Given the description of an element on the screen output the (x, y) to click on. 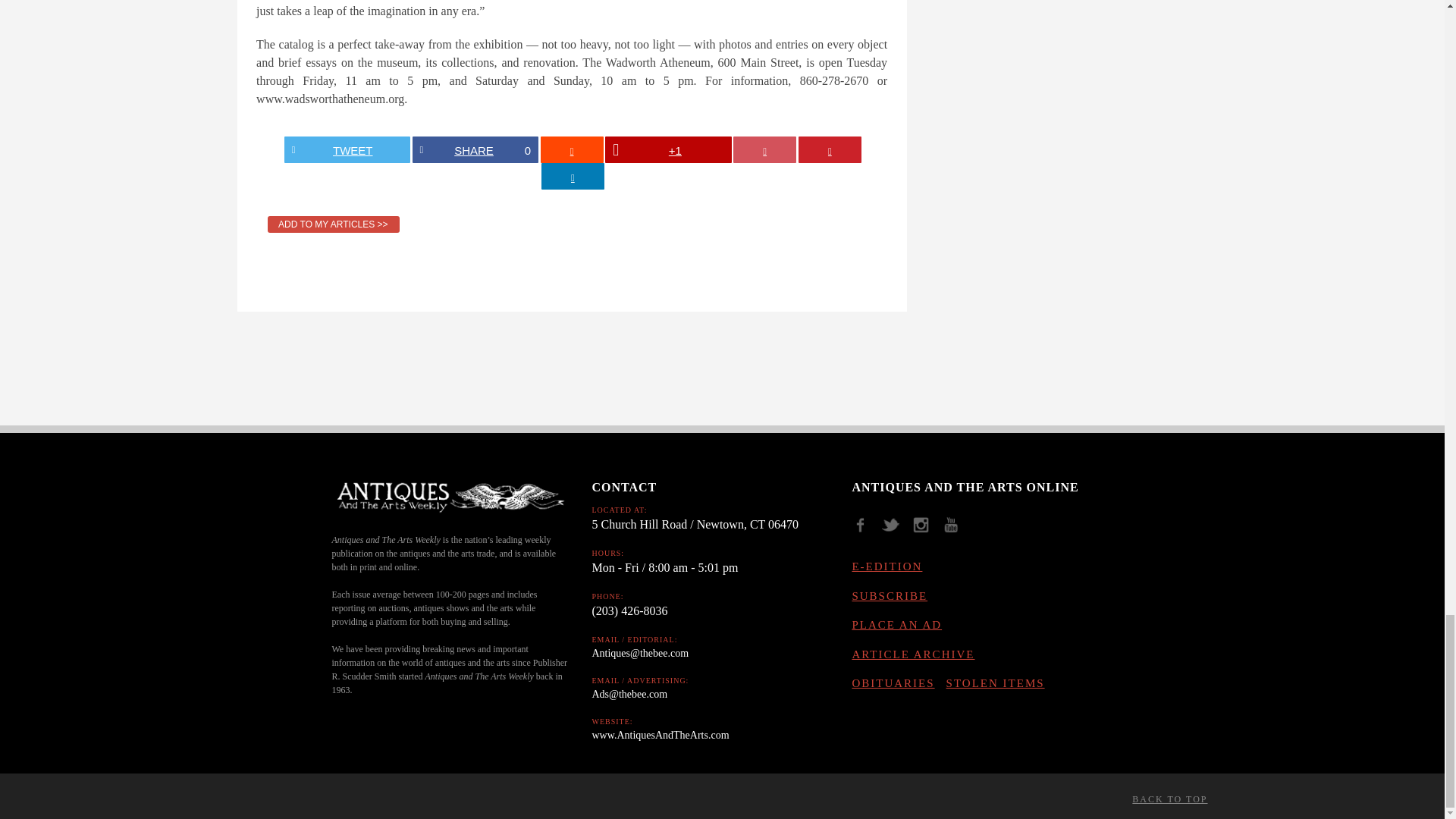
Youtube (956, 530)
Facebook (865, 530)
Twitter (896, 530)
Instagram (926, 530)
